Given the description of an element on the screen output the (x, y) to click on. 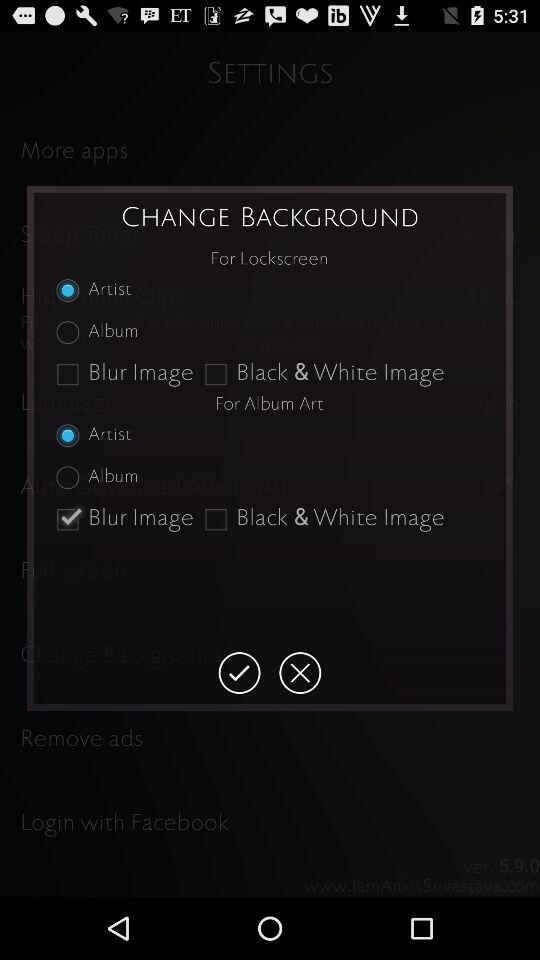
select the icon below black & white image item (300, 673)
